Given the description of an element on the screen output the (x, y) to click on. 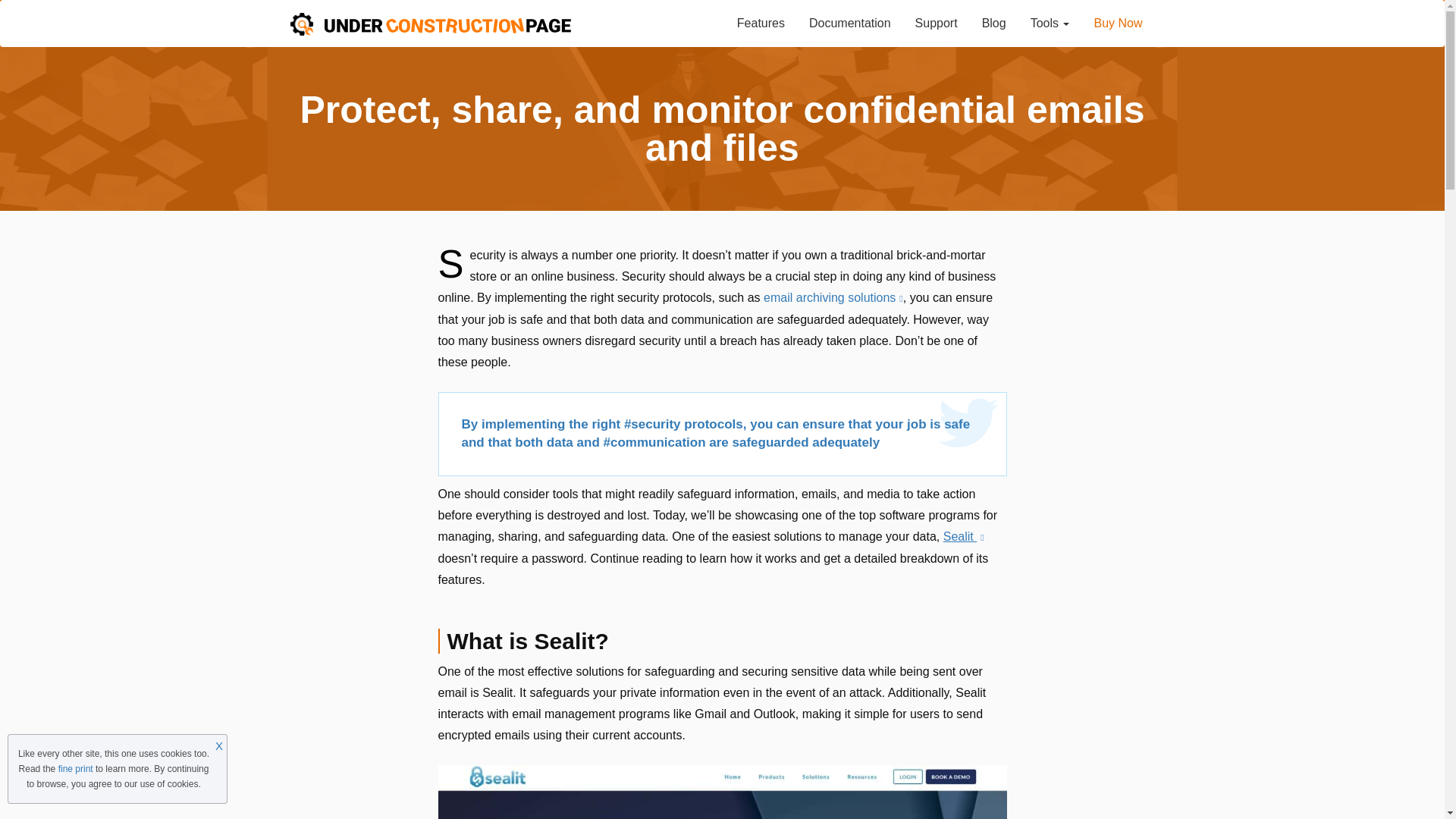
Tools (1049, 23)
Sealit (963, 535)
Features (760, 23)
Blog (993, 23)
Blog (993, 23)
Buy Now (1117, 23)
Documentation (849, 23)
Support (935, 23)
Support (935, 23)
Features (760, 23)
email archiving solutions (832, 297)
Documentation (849, 23)
Buy Now (1117, 23)
Tools (1049, 23)
